Given the description of an element on the screen output the (x, y) to click on. 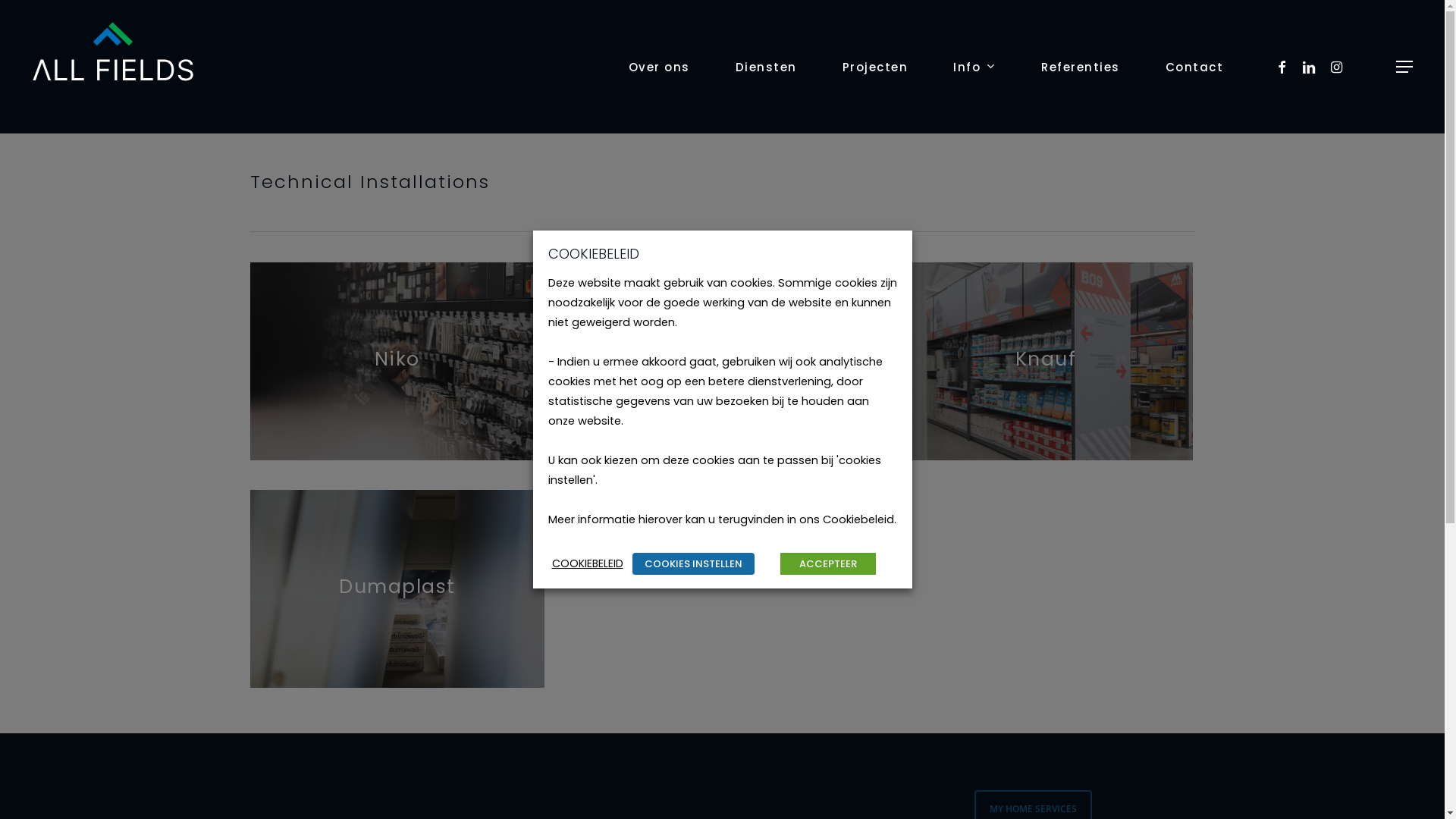
COOKIES INSTELLEN Element type: text (693, 563)
ACCEPTEER Element type: text (827, 563)
Diensten Element type: text (766, 66)
facebook Element type: text (1281, 66)
Menu Element type: text (1405, 67)
instagram Element type: text (1336, 66)
linkedin Element type: text (1309, 66)
Projecten Element type: text (874, 66)
Referenties Element type: text (1080, 66)
Info Element type: text (974, 66)
Over ons Element type: text (658, 66)
Contact Element type: text (1193, 66)
COOKIEBELEID Element type: text (587, 563)
